Given the description of an element on the screen output the (x, y) to click on. 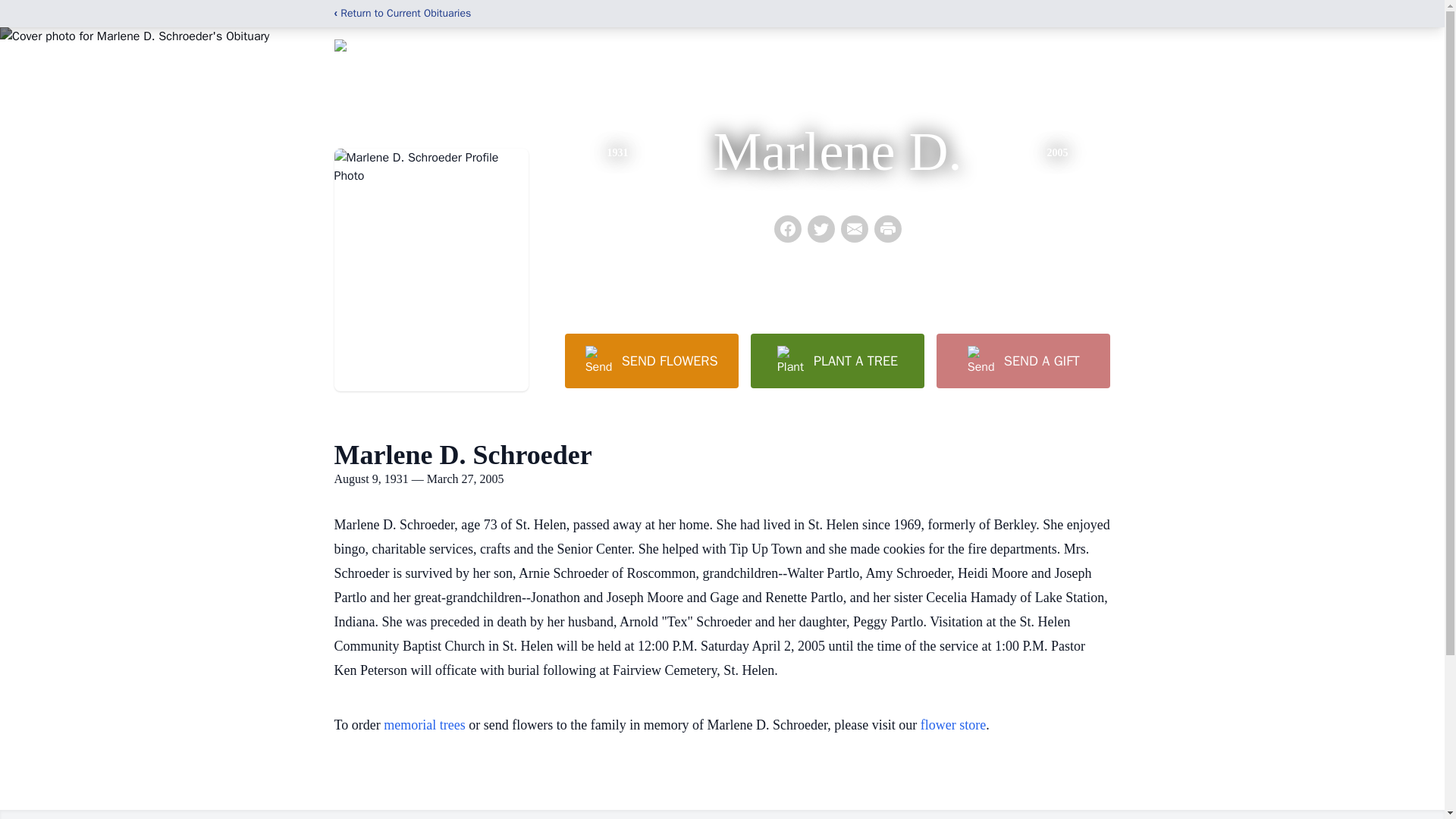
memorial trees (424, 724)
PLANT A TREE (837, 360)
SEND A GIFT (1022, 360)
SEND FLOWERS (651, 360)
flower store (952, 724)
